Given the description of an element on the screen output the (x, y) to click on. 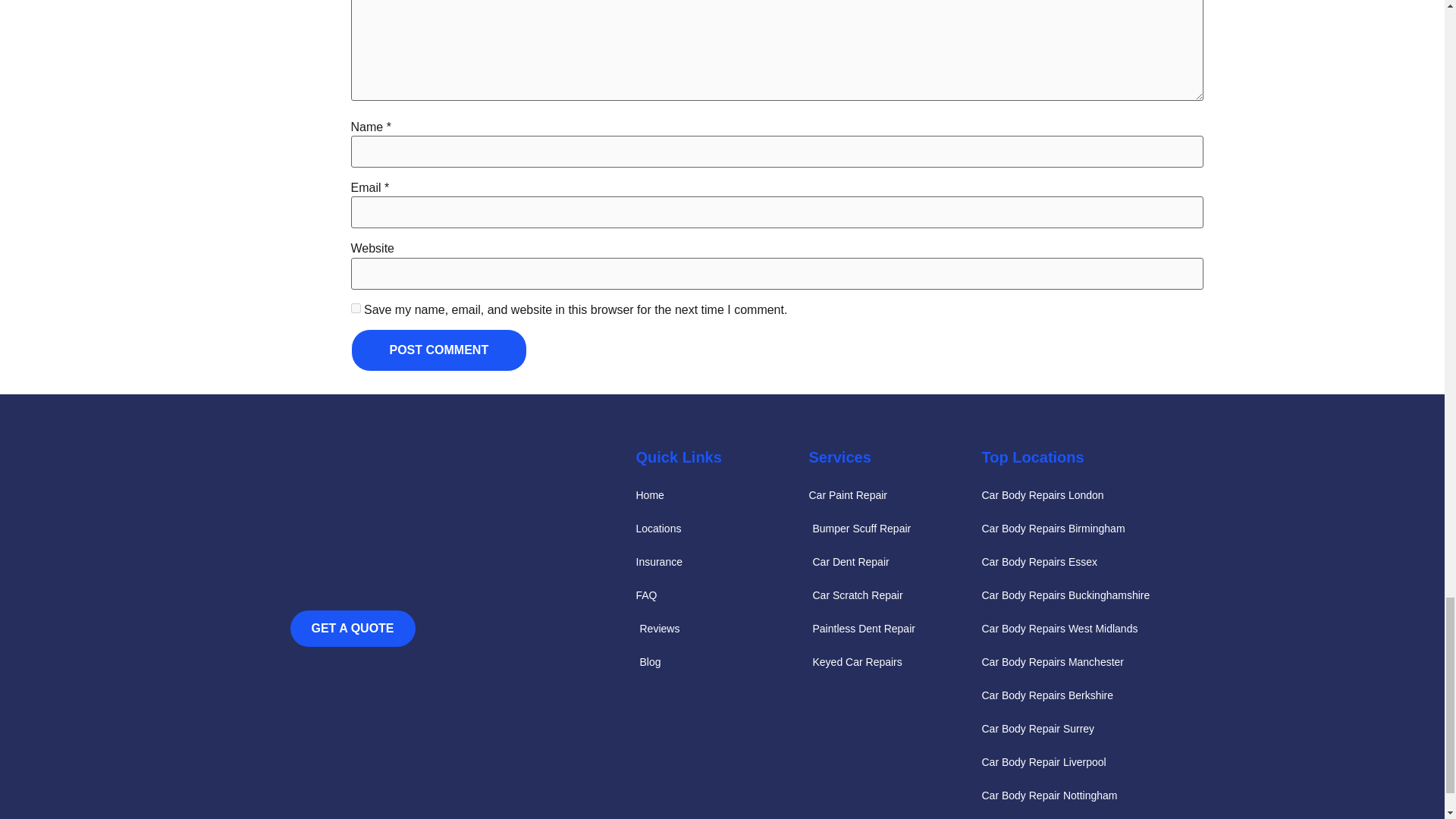
Post Comment (438, 350)
Locations (721, 528)
GET A QUOTE (351, 628)
Post Comment (438, 350)
Insurance (721, 561)
yes (354, 307)
Reviews (721, 628)
FAQ (721, 595)
Services (839, 457)
Home (721, 495)
